Given the description of an element on the screen output the (x, y) to click on. 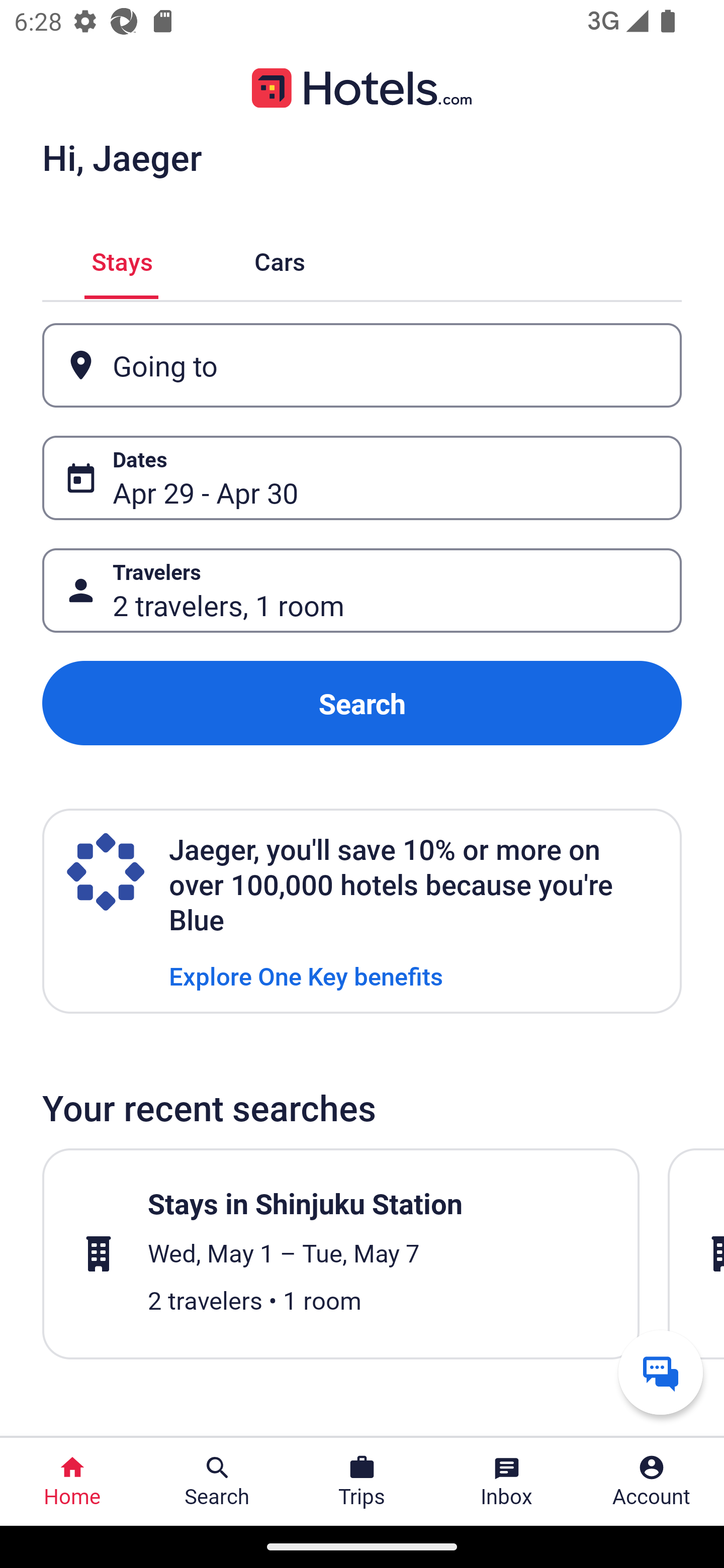
Hi, Jaeger (121, 156)
Cars (279, 259)
Going to Button (361, 365)
Dates Button Apr 29 - Apr 30 (361, 477)
Travelers Button 2 travelers, 1 room (361, 590)
Search (361, 702)
Get help from a virtual agent (660, 1371)
Search Search Button (216, 1481)
Trips Trips Button (361, 1481)
Inbox Inbox Button (506, 1481)
Account Profile. Button (651, 1481)
